Given the description of an element on the screen output the (x, y) to click on. 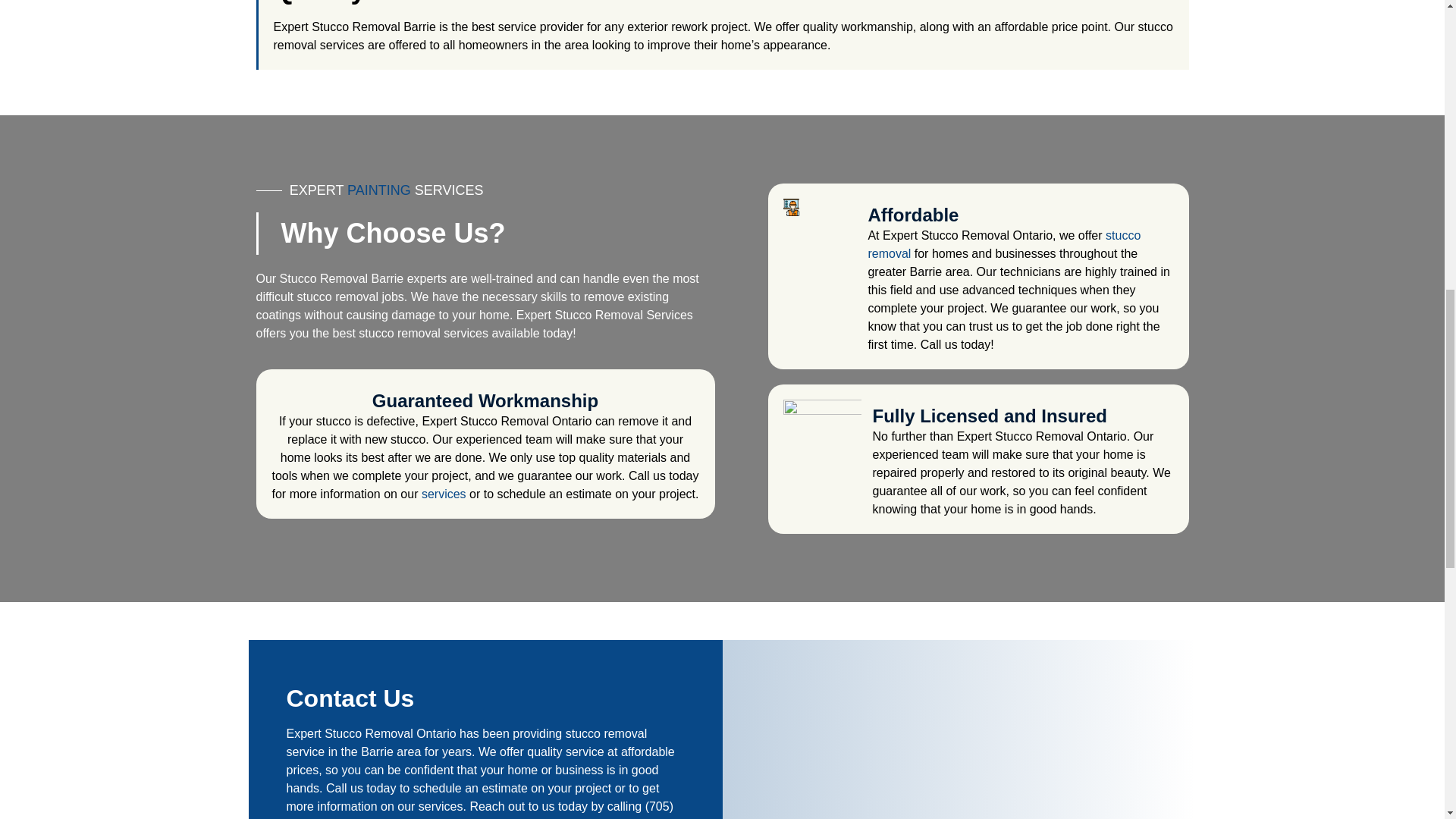
painting (378, 190)
